Given the description of an element on the screen output the (x, y) to click on. 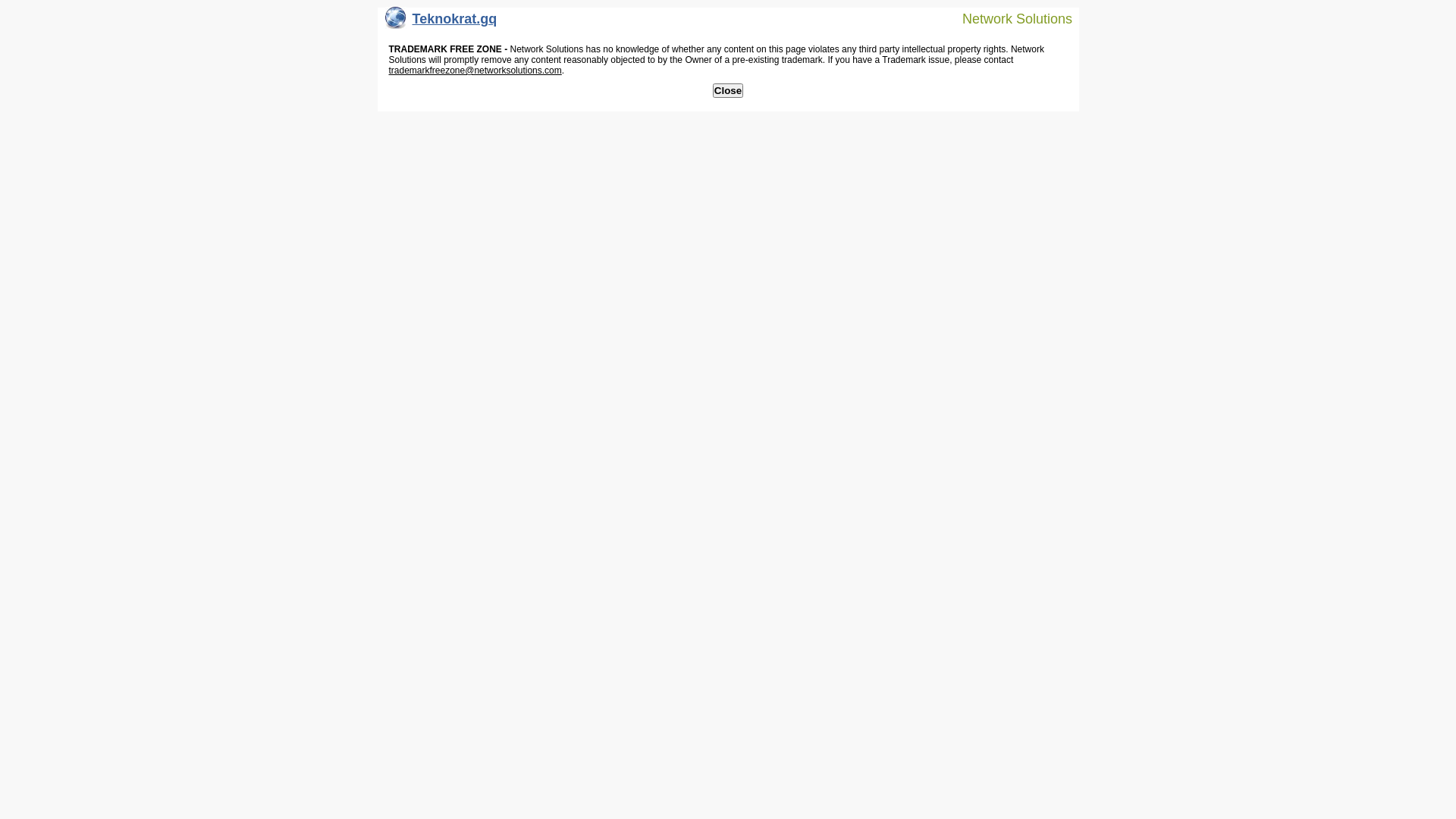
Close Element type: text (727, 90)
Network Solutions Element type: text (1007, 17)
Teknokrat.gq Element type: text (441, 21)
trademarkfreezone@networksolutions.com Element type: text (474, 70)
